Given the description of an element on the screen output the (x, y) to click on. 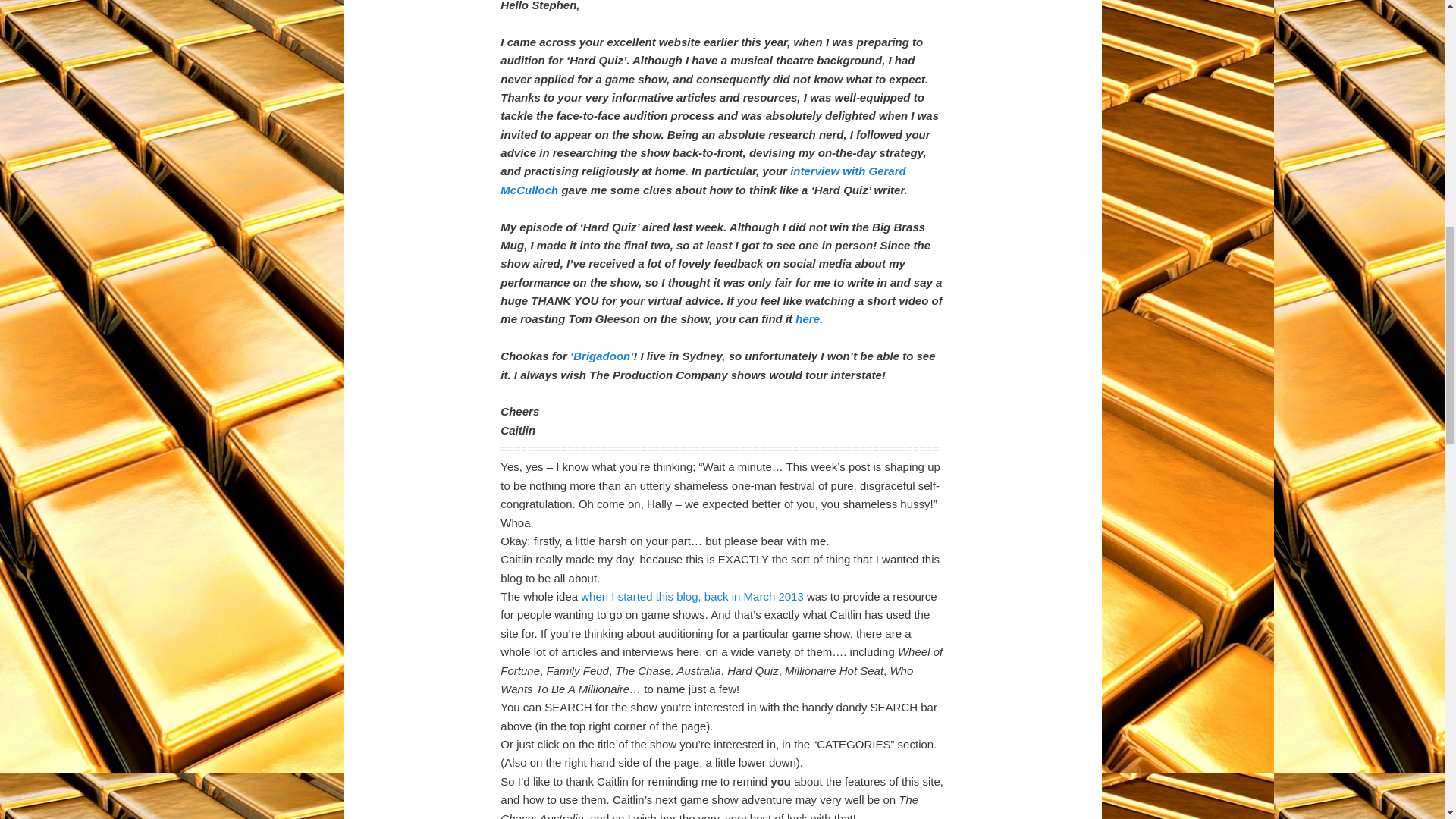
when I started this blog, back in March 2013 (691, 595)
interview with Gerard McCulloch (702, 179)
here. (808, 318)
